Given the description of an element on the screen output the (x, y) to click on. 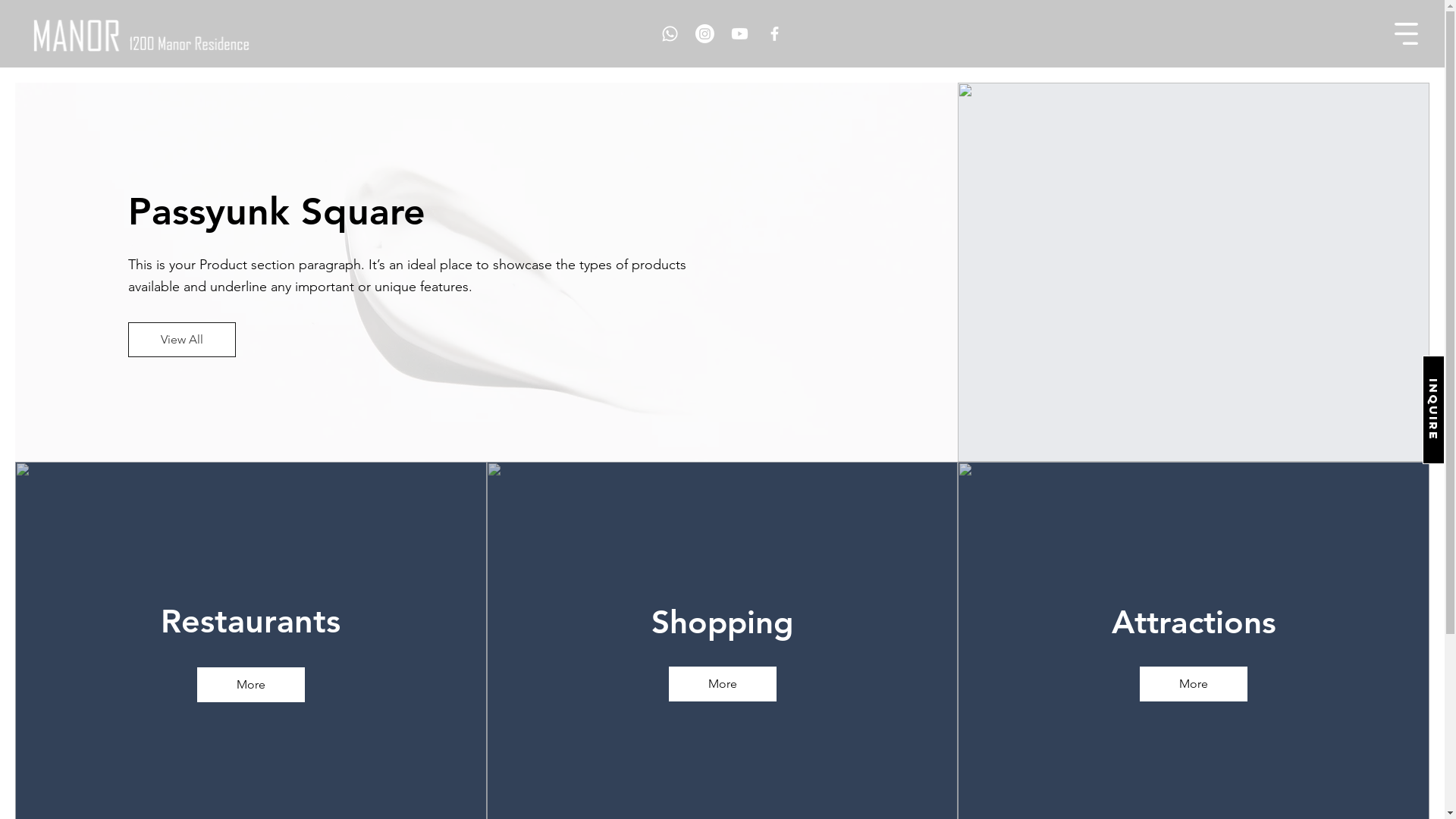
More Element type: text (722, 683)
More Element type: text (250, 684)
View All Element type: text (181, 339)
More Element type: text (1193, 683)
